Given the description of an element on the screen output the (x, y) to click on. 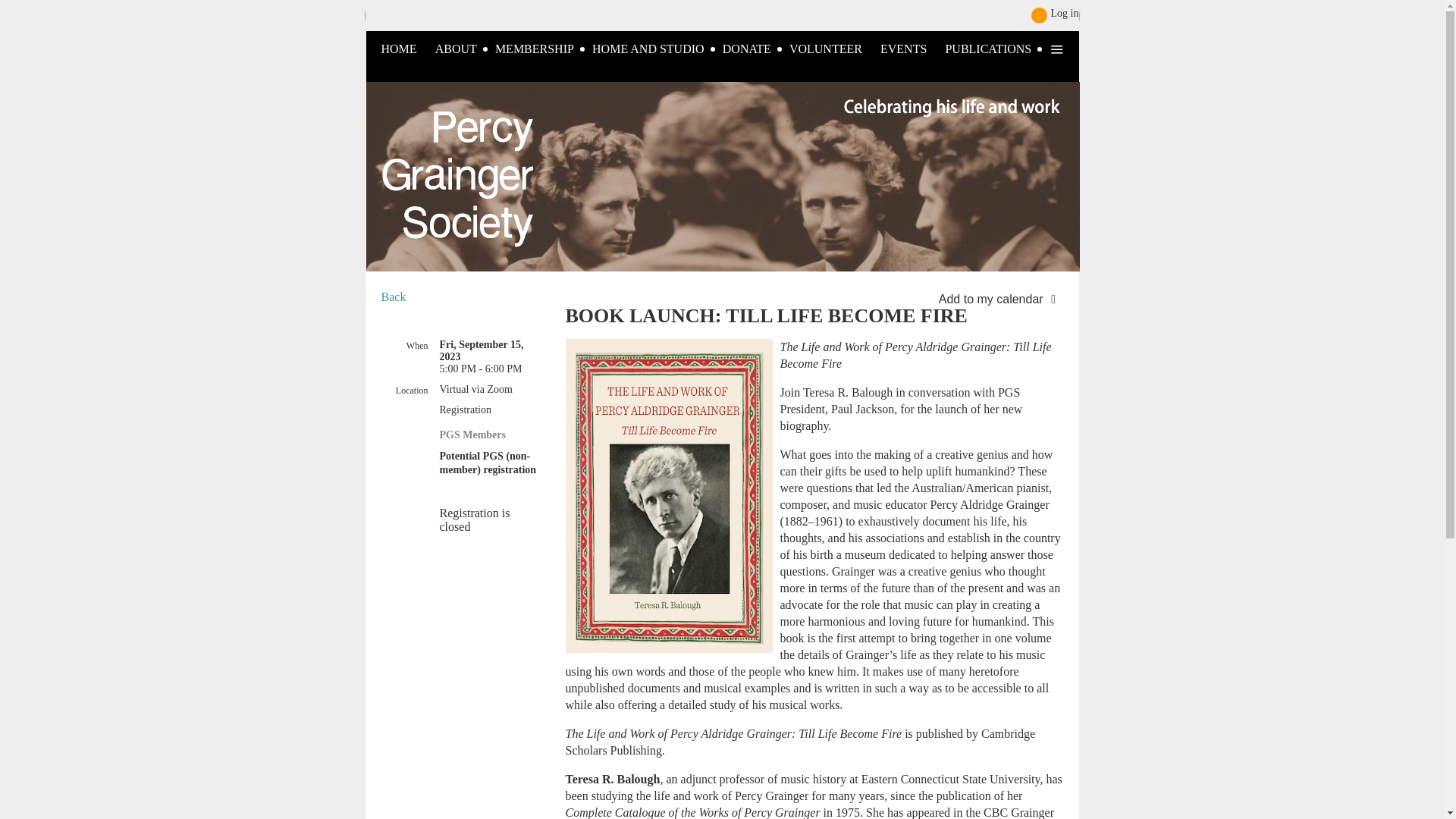
PUBLICATIONS (996, 48)
VOLUNTEER (834, 48)
Publications (996, 48)
DONATE (755, 48)
Home (406, 48)
HOME (406, 48)
Home and Studio (657, 48)
Log in (1054, 15)
Donate (755, 48)
Events (912, 48)
ABOUT (465, 48)
Back (393, 296)
MEMBERSHIP (543, 48)
HOME AND STUDIO (657, 48)
Volunteer (834, 48)
